Given the description of an element on the screen output the (x, y) to click on. 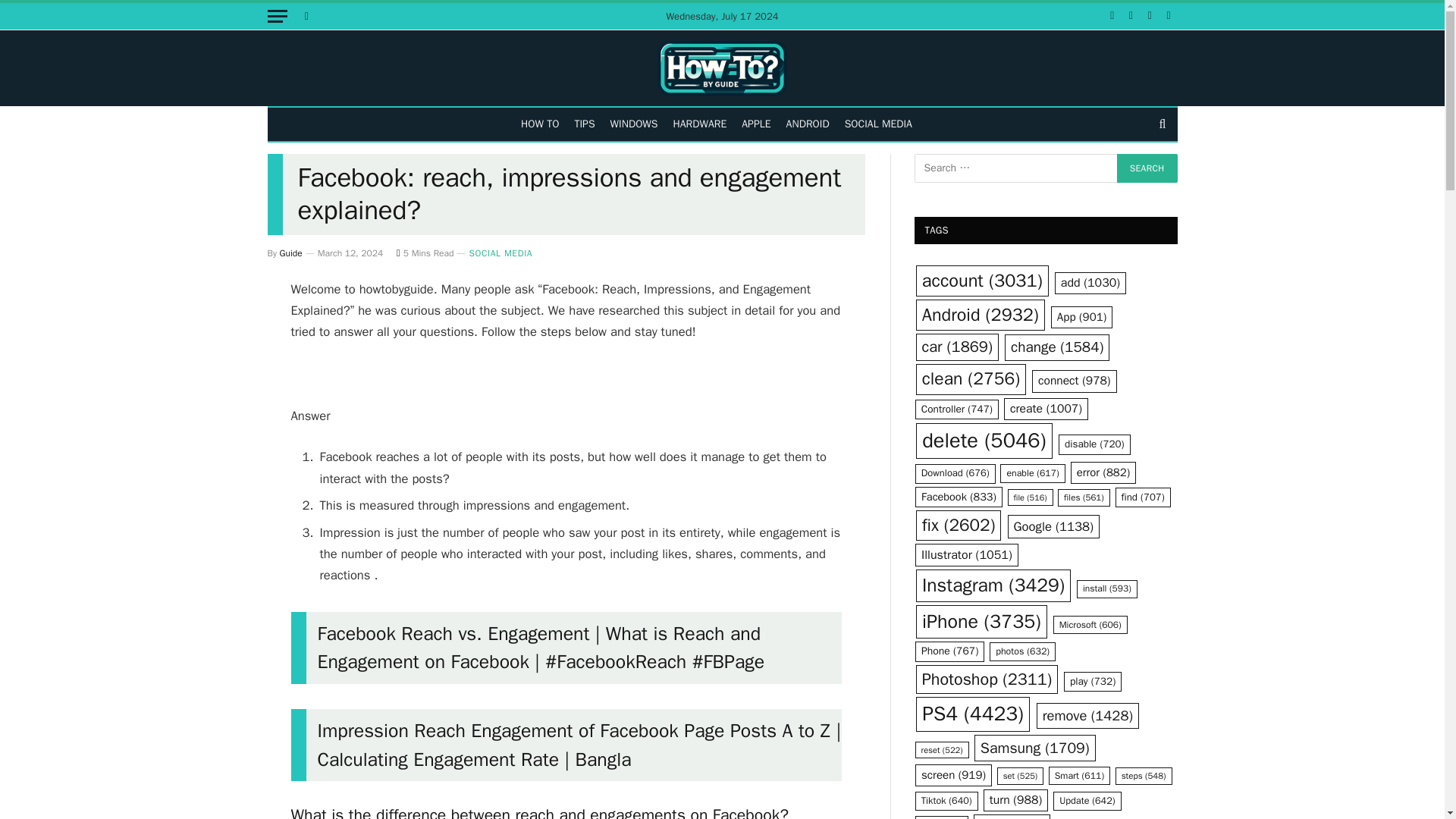
Search (1146, 167)
Switch to Dark Design - easier on eyes. (305, 15)
HOW TO (539, 123)
Guide (290, 253)
Search (1146, 167)
TIPS (584, 123)
YouTube (1168, 16)
Pinterest (1149, 16)
Posts by Guide (290, 253)
SOCIAL MEDIA (500, 253)
ANDROID (807, 123)
Search (1161, 123)
Instagram (1131, 16)
SOCIAL MEDIA (878, 123)
WINDOWS (633, 123)
